Given the description of an element on the screen output the (x, y) to click on. 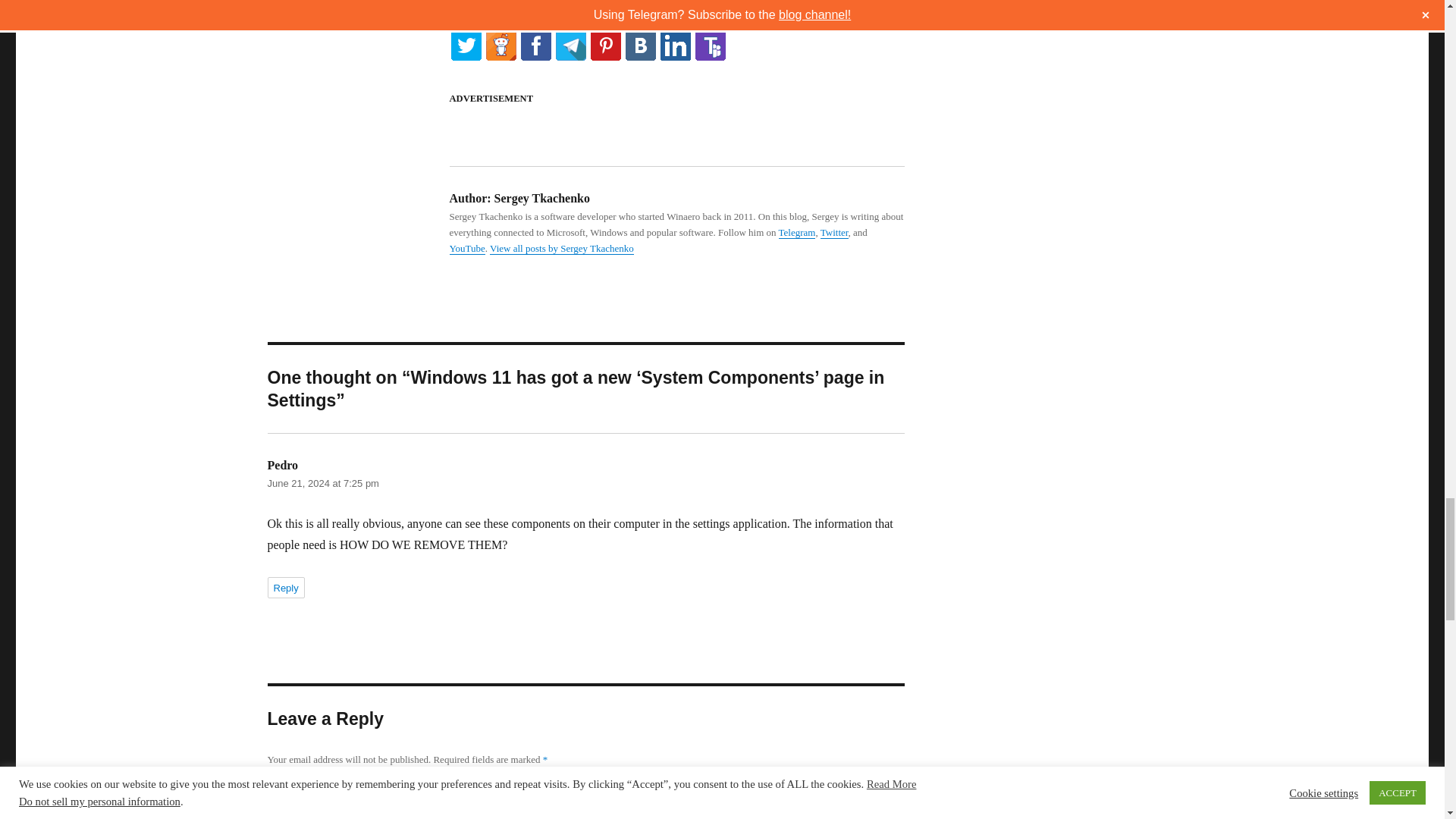
Telegram (796, 232)
Twitter (834, 232)
View all posts by Sergey Tkachenko (561, 247)
Reply (285, 587)
YouTube (466, 247)
June 21, 2024 at 7:25 pm (322, 482)
